Given the description of an element on the screen output the (x, y) to click on. 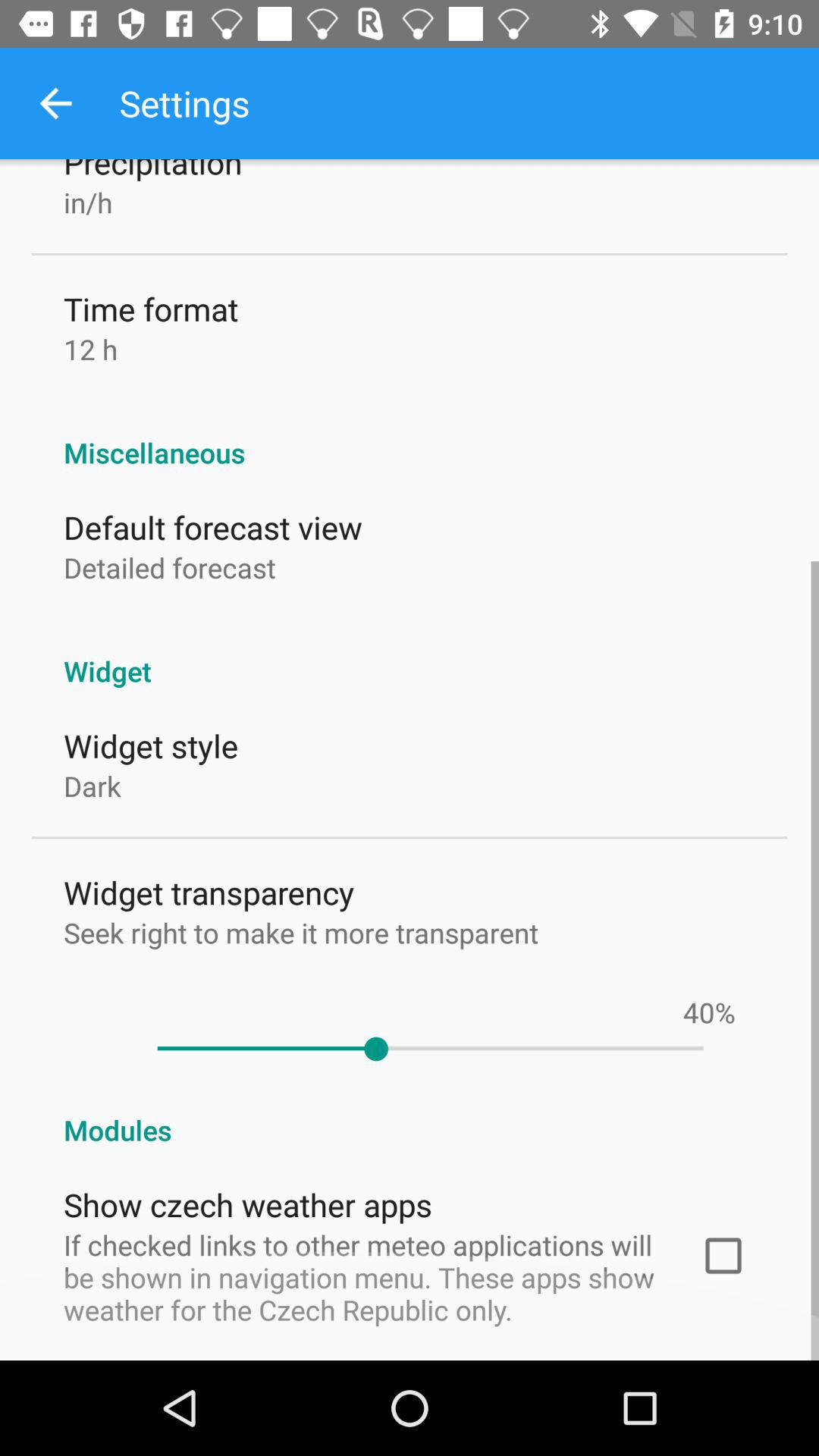
click icon below the show czech weather item (361, 1277)
